Given the description of an element on the screen output the (x, y) to click on. 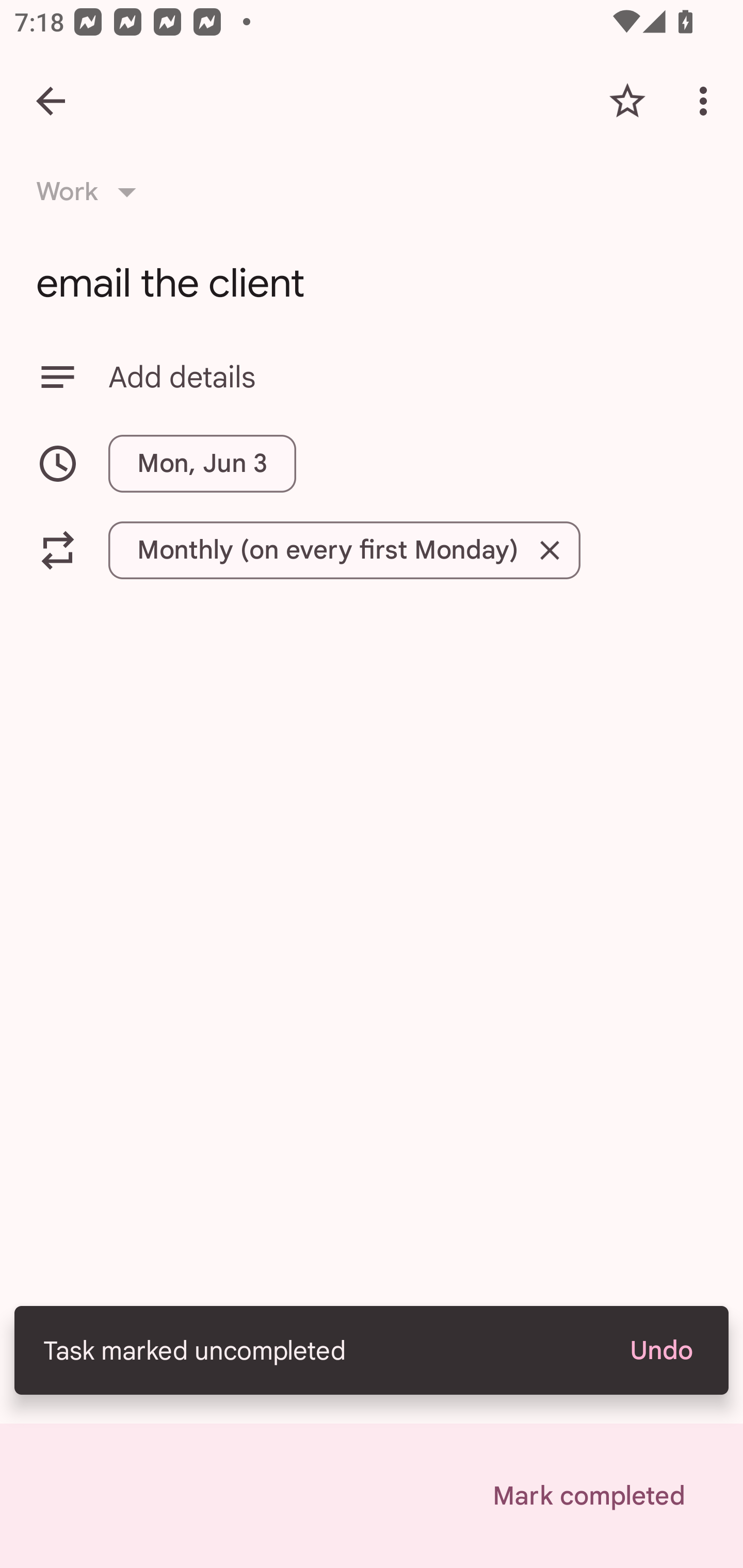
Back (50, 101)
Add star (626, 101)
More options (706, 101)
Work List, Work selected, 1 of 19 (92, 191)
email the client (371, 283)
Add details (371, 376)
Add details (407, 376)
Mon, Jun 3 (371, 463)
Mon, Jun 3 (202, 463)
Monthly (on every first Monday) End repeating (371, 550)
Monthly (on every first Monday) End repeating (344, 550)
Undo (660, 1350)
Mark completed (588, 1495)
